Given the description of an element on the screen output the (x, y) to click on. 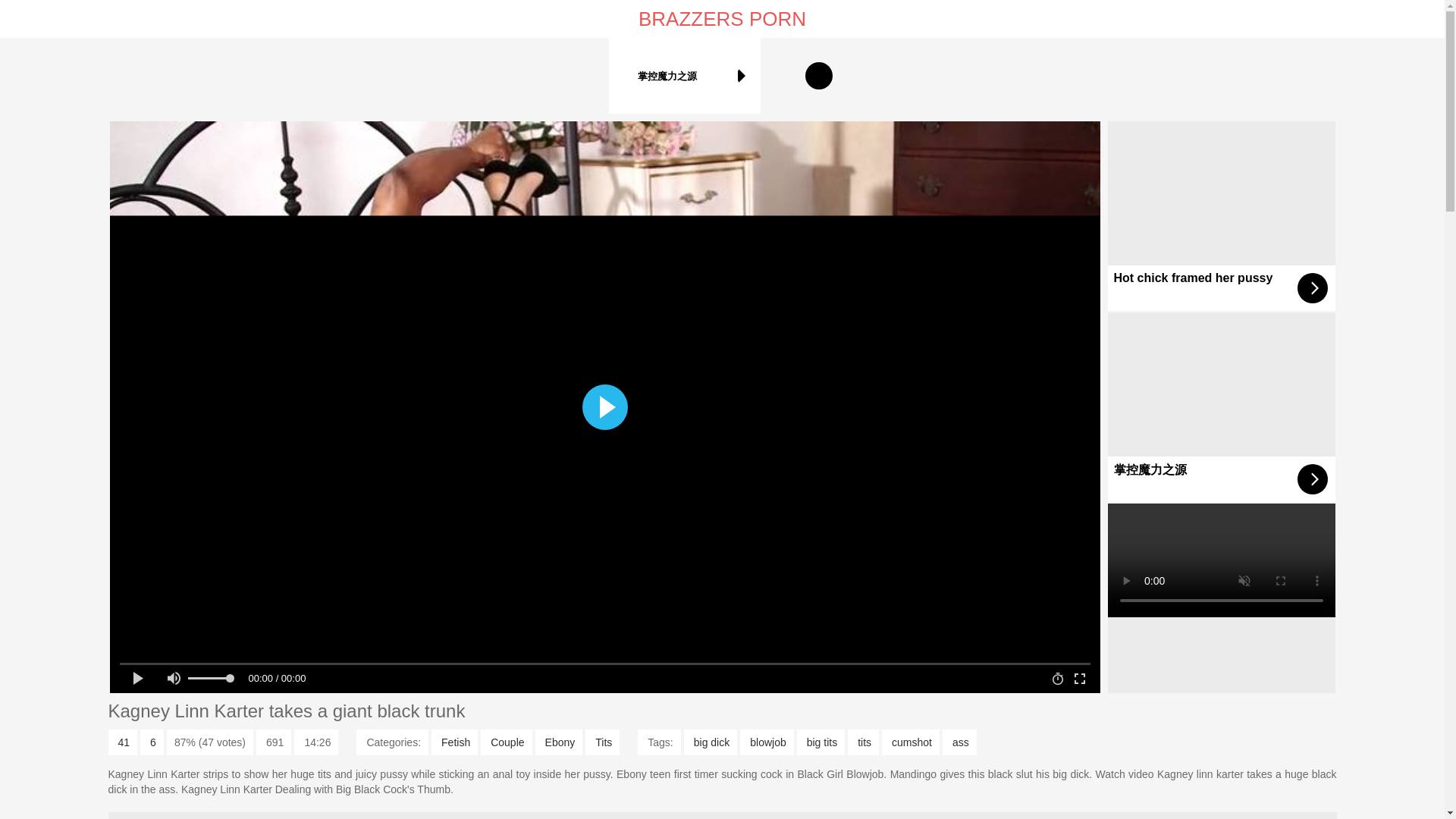
tits (863, 742)
cumshot (910, 742)
blowjob (766, 742)
Don't Like! (151, 742)
Hot chick framed her pussy (1220, 216)
I Like It! (121, 742)
Couple (505, 742)
Ebony (559, 742)
6 (151, 742)
41 (121, 742)
